Given the description of an element on the screen output the (x, y) to click on. 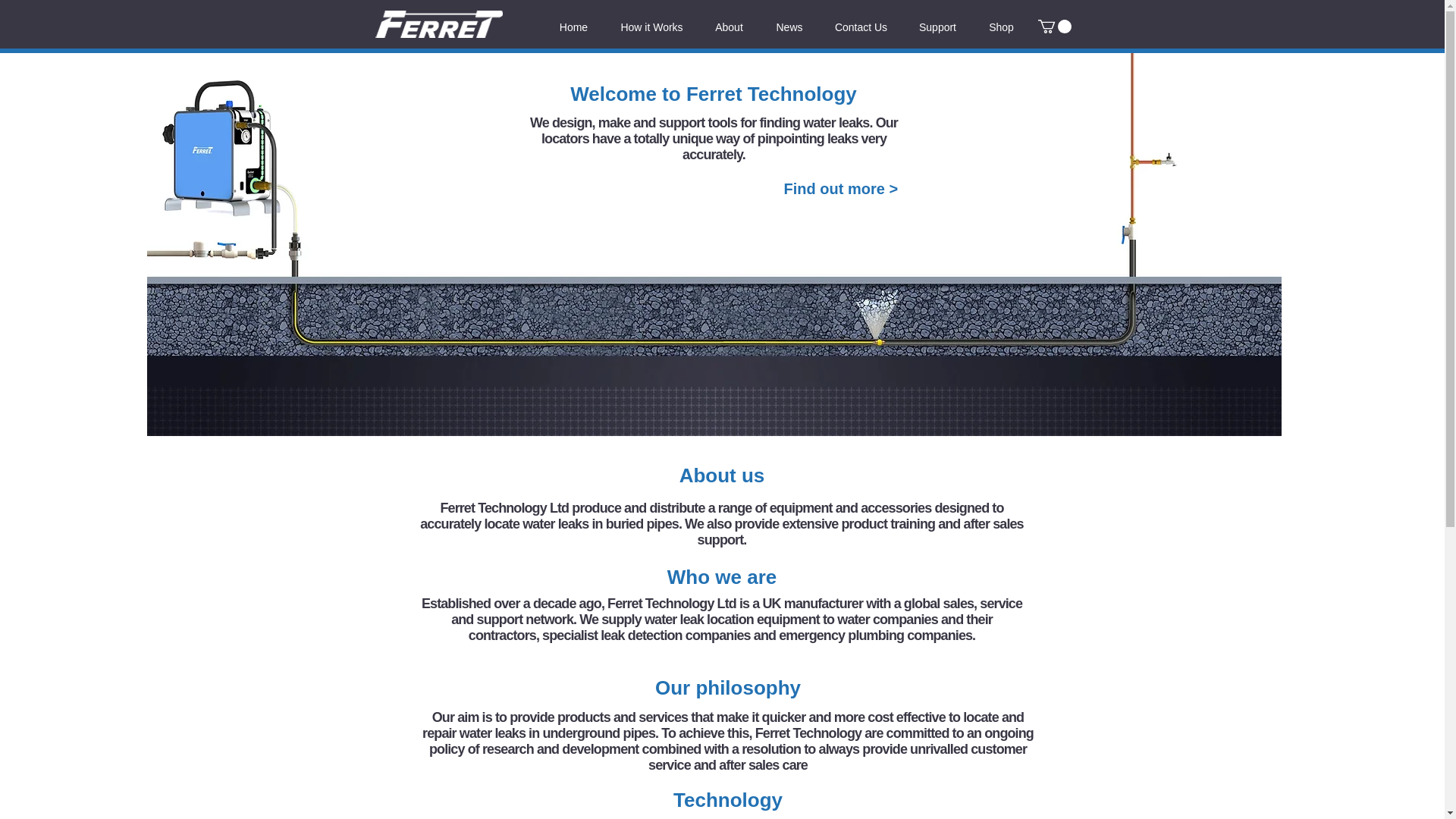
Support (937, 26)
About (729, 26)
News (789, 26)
How it Works (651, 26)
Home (574, 26)
Shop (1000, 26)
Contact Us (860, 26)
